Given the description of an element on the screen output the (x, y) to click on. 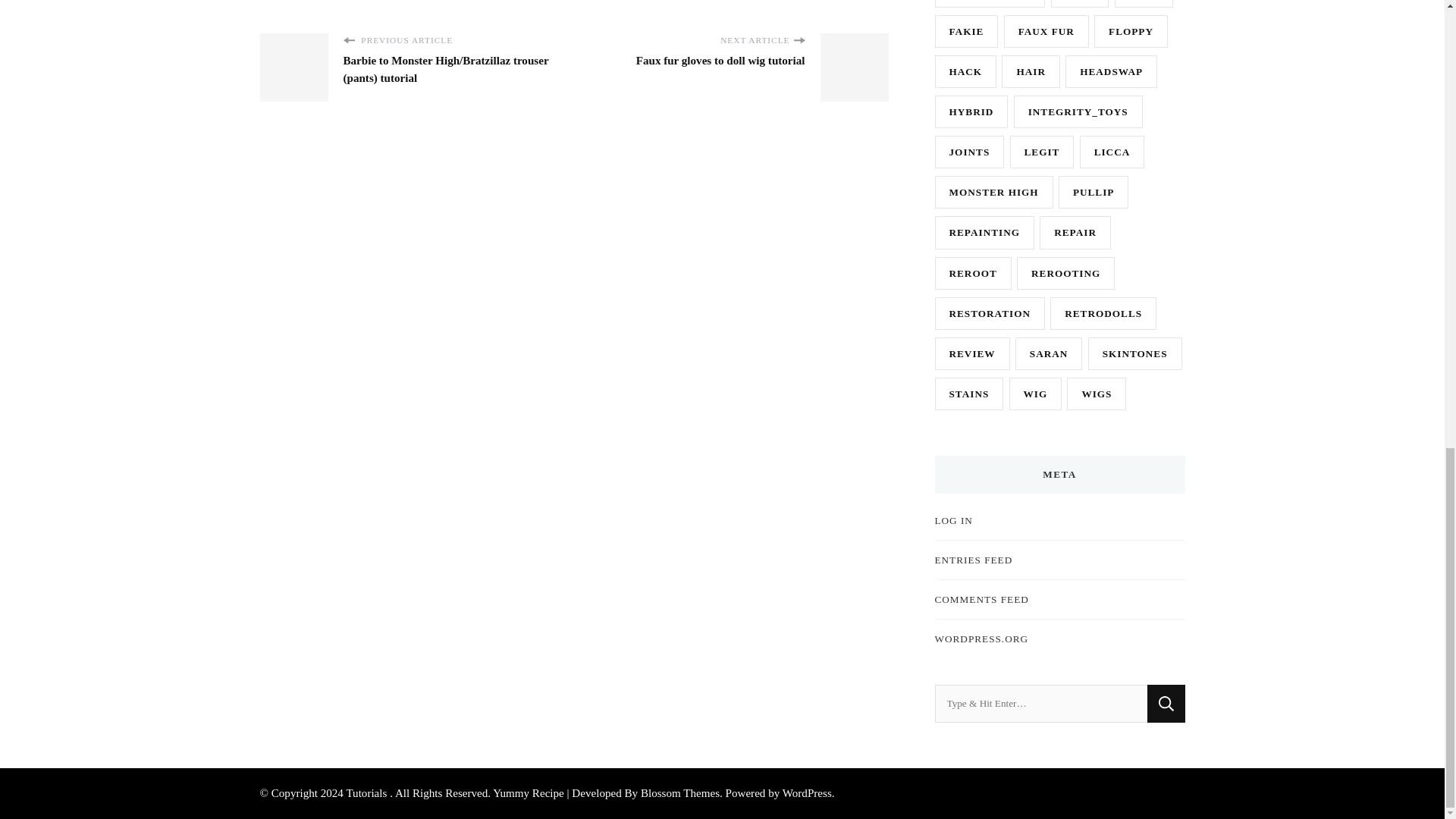
Search (1166, 703)
Search (1166, 703)
